Given the description of an element on the screen output the (x, y) to click on. 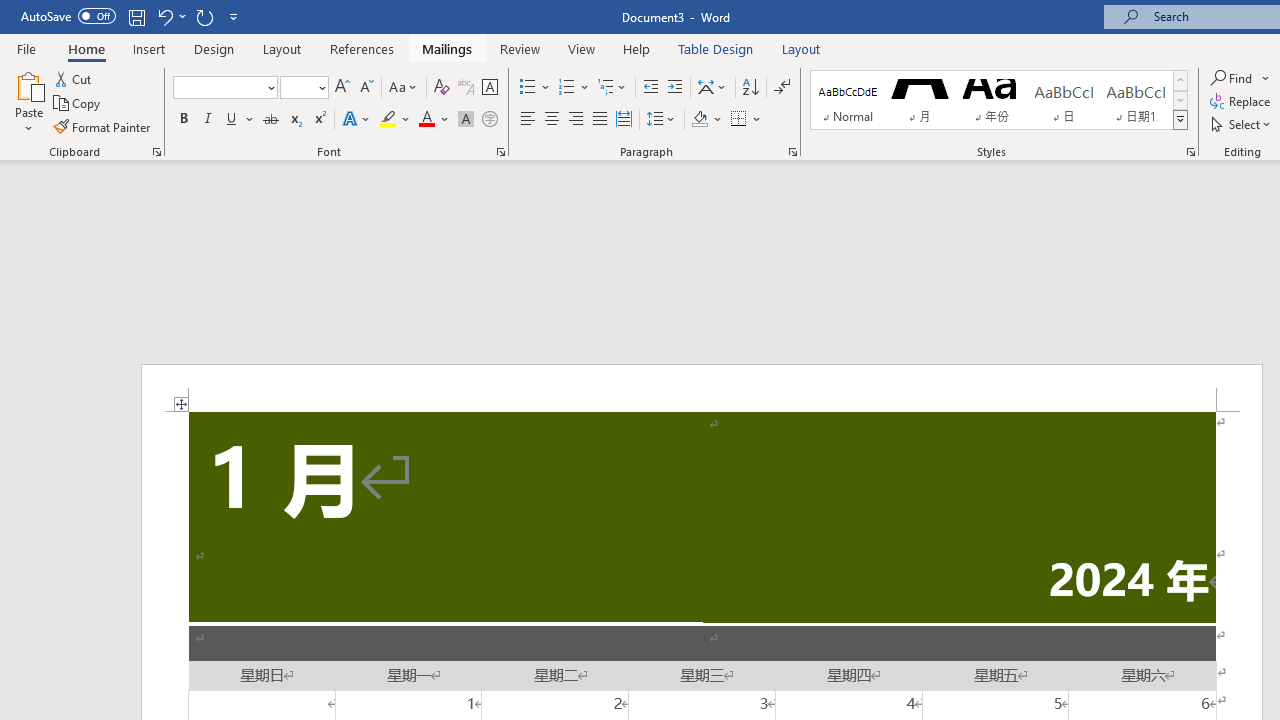
Font Color RGB(255, 0, 0) (426, 119)
